Given the description of an element on the screen output the (x, y) to click on. 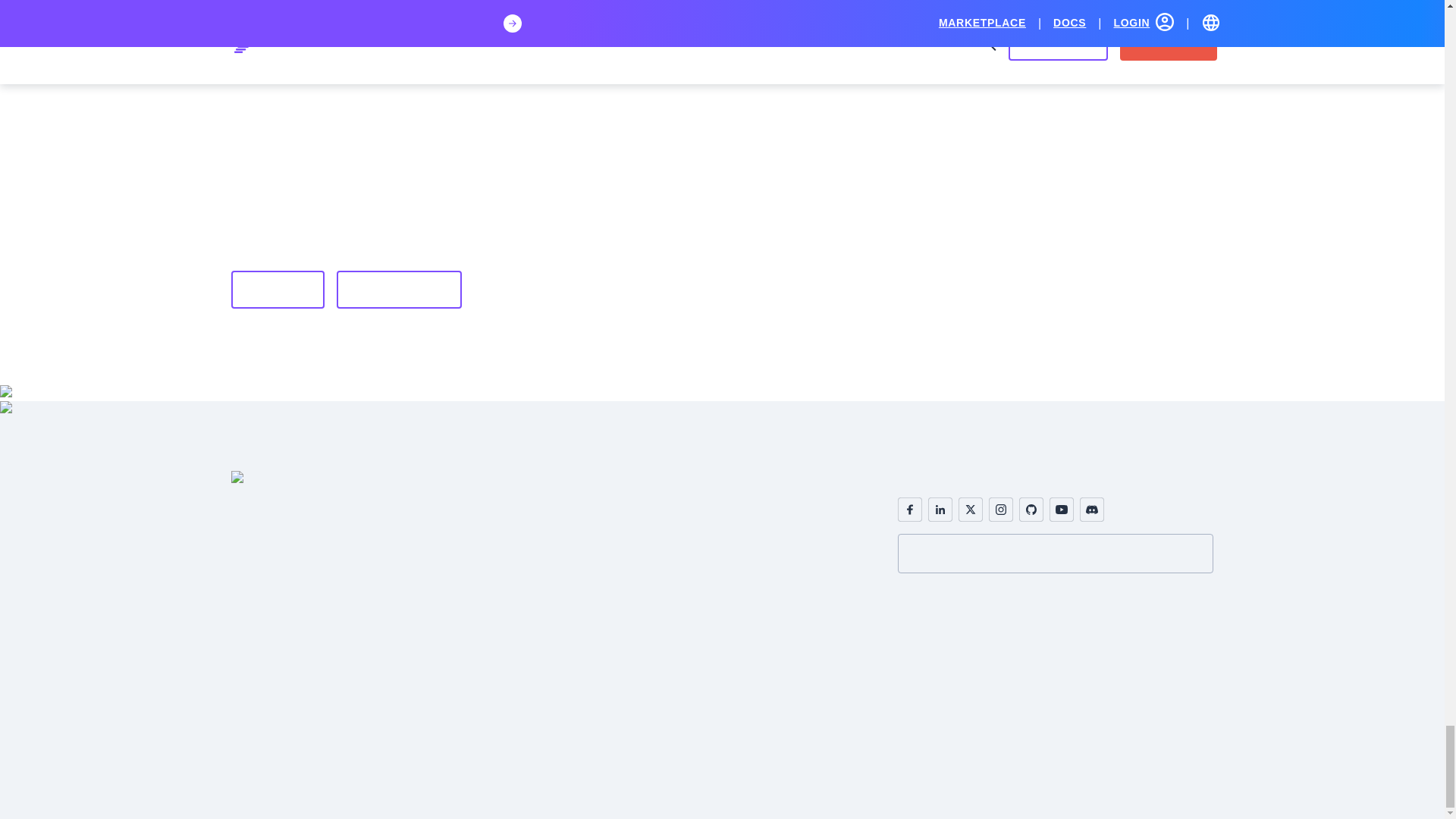
LinkedIn (940, 508)
Facebook (909, 508)
Discord (1091, 508)
YouTube (1061, 508)
Twitter (970, 508)
GitHub (1031, 508)
Instagram (1000, 508)
